Given the description of an element on the screen output the (x, y) to click on. 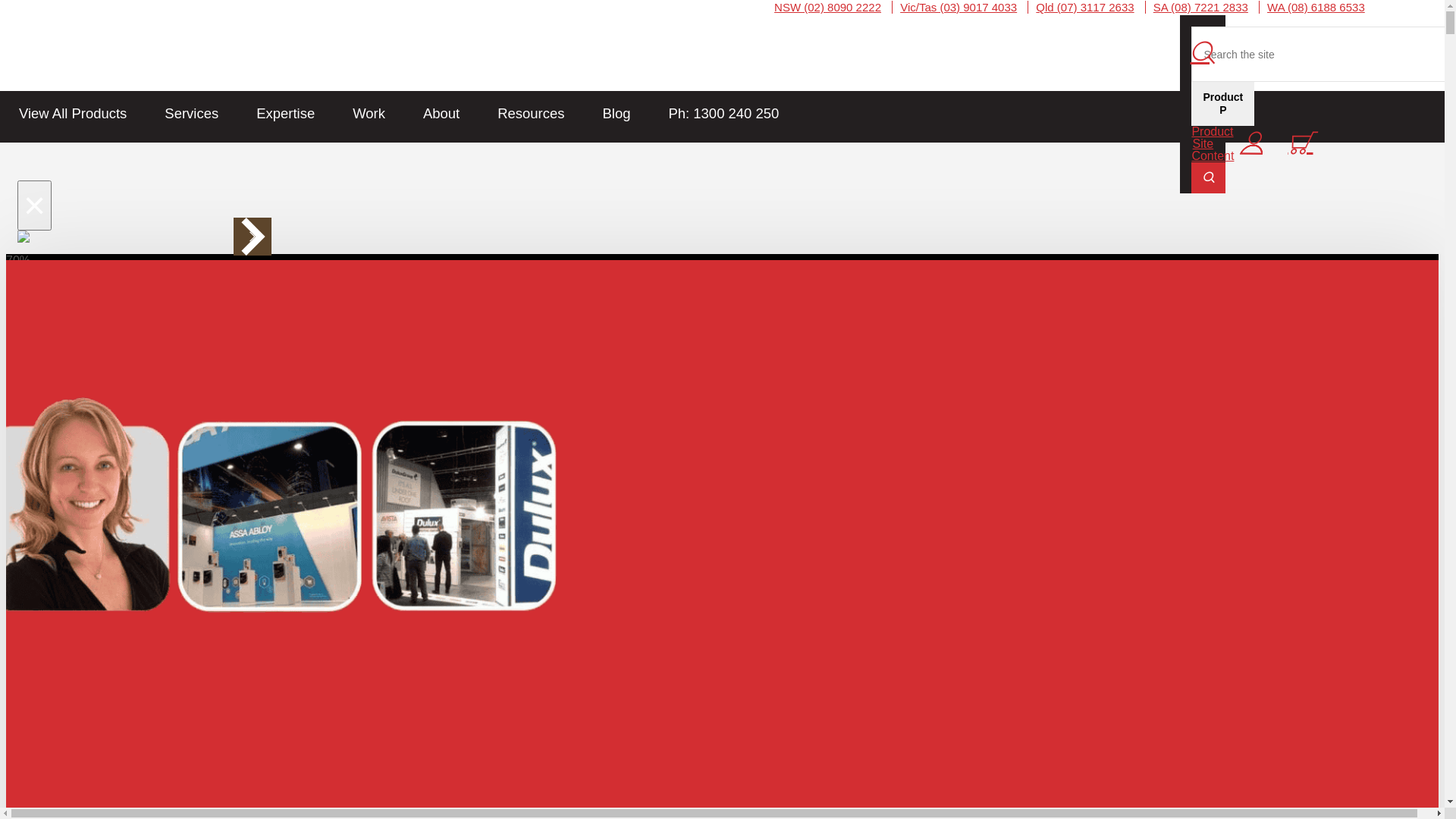
View All Products Element type: text (72, 113)
Vic/Tas (03) 9017 4033 Element type: text (958, 6)
Product P Element type: text (1222, 103)
Resources Element type: text (530, 113)
Product Element type: text (1212, 131)
Work Element type: text (368, 113)
Expertise Element type: text (285, 113)
Ph: 1300 240 250 Element type: text (722, 113)
Services Element type: text (191, 113)
Blog Element type: text (615, 113)
WA (08) 6188 6533 Element type: text (1316, 6)
About Element type: text (440, 113)
Qld (07) 3117 2633 Element type: text (1084, 6)
SA (08) 7221 2833 Element type: text (1200, 6)
Skip to the content Element type: text (721, 12)
Site Content Element type: text (1212, 149)
NSW (02) 8090 2222 Element type: text (827, 6)
